Given the description of an element on the screen output the (x, y) to click on. 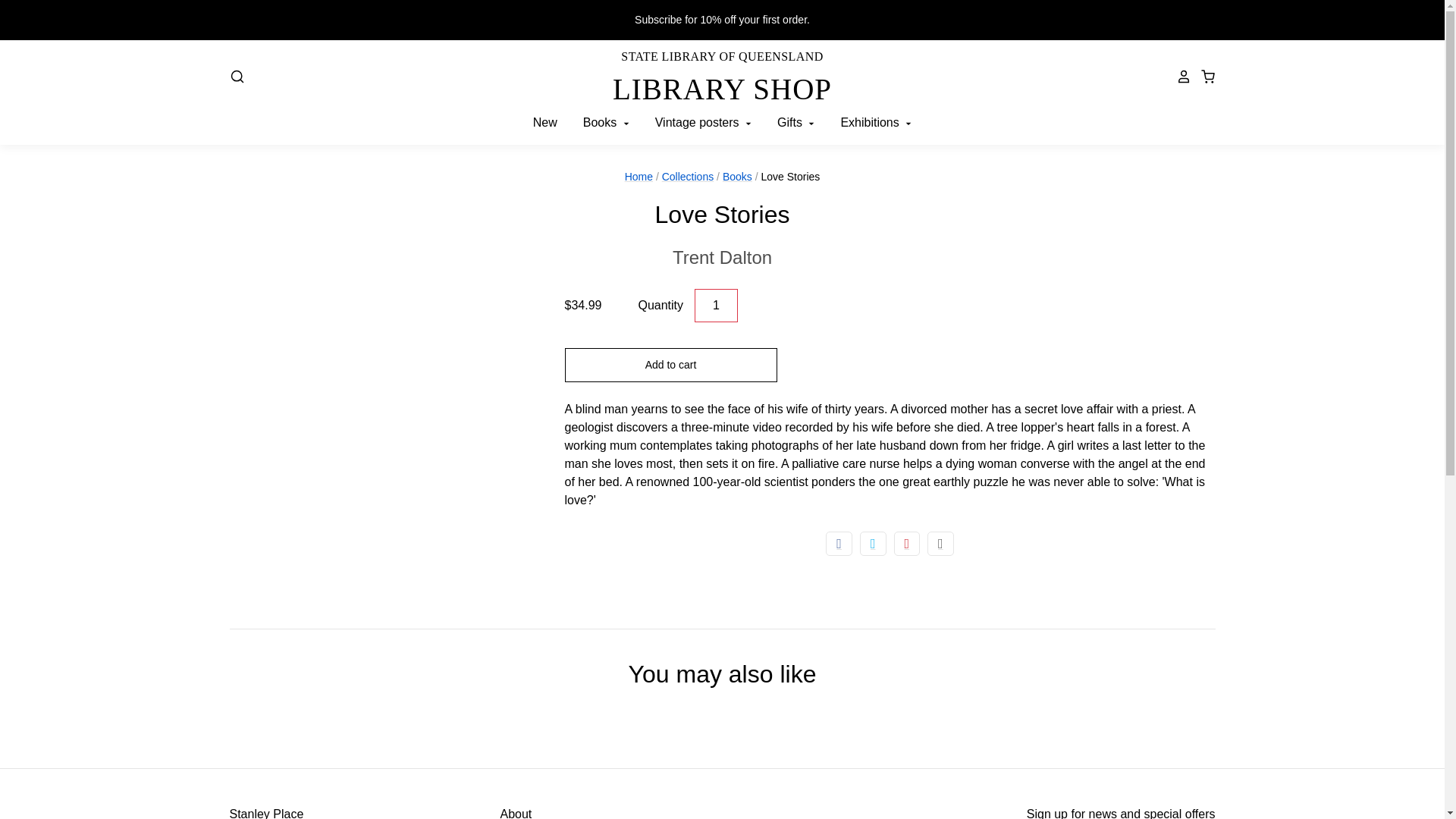
1 (721, 257)
Add to cart (715, 305)
